Given the description of an element on the screen output the (x, y) to click on. 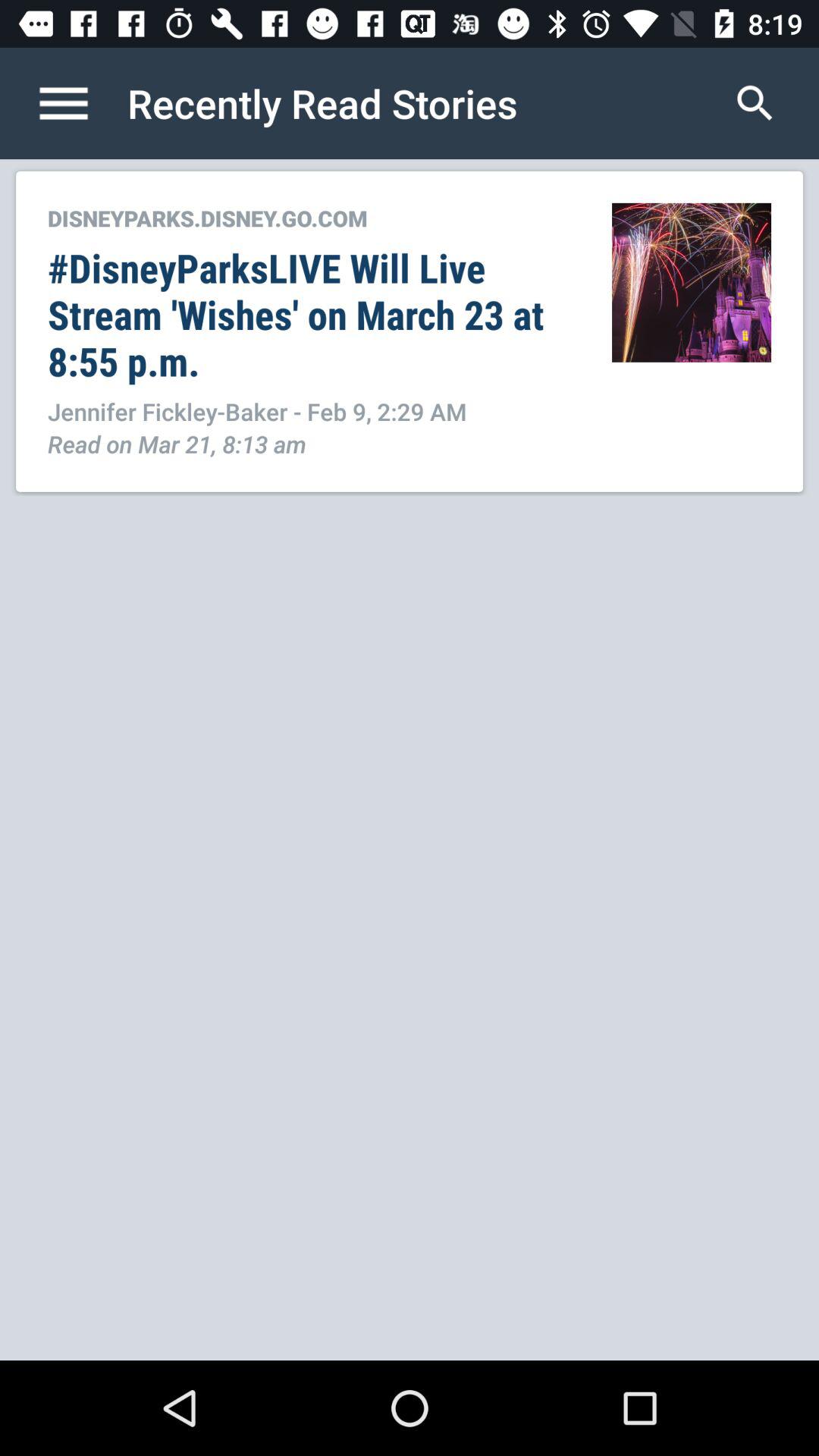
select the disneyparkslive will live (313, 314)
